Given the description of an element on the screen output the (x, y) to click on. 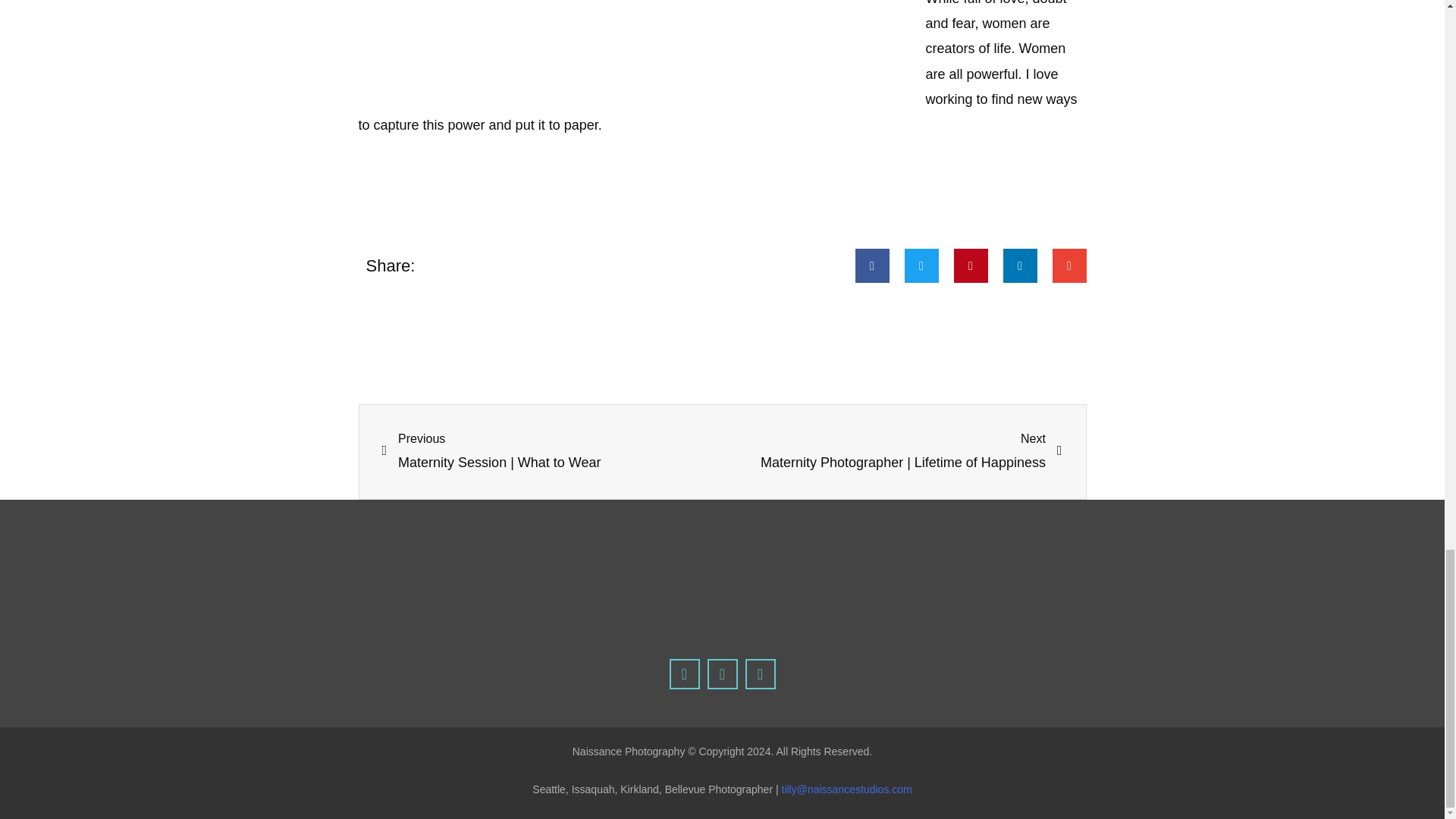
Youtube (759, 674)
Instagram (721, 674)
Facebook (683, 674)
